Given the description of an element on the screen output the (x, y) to click on. 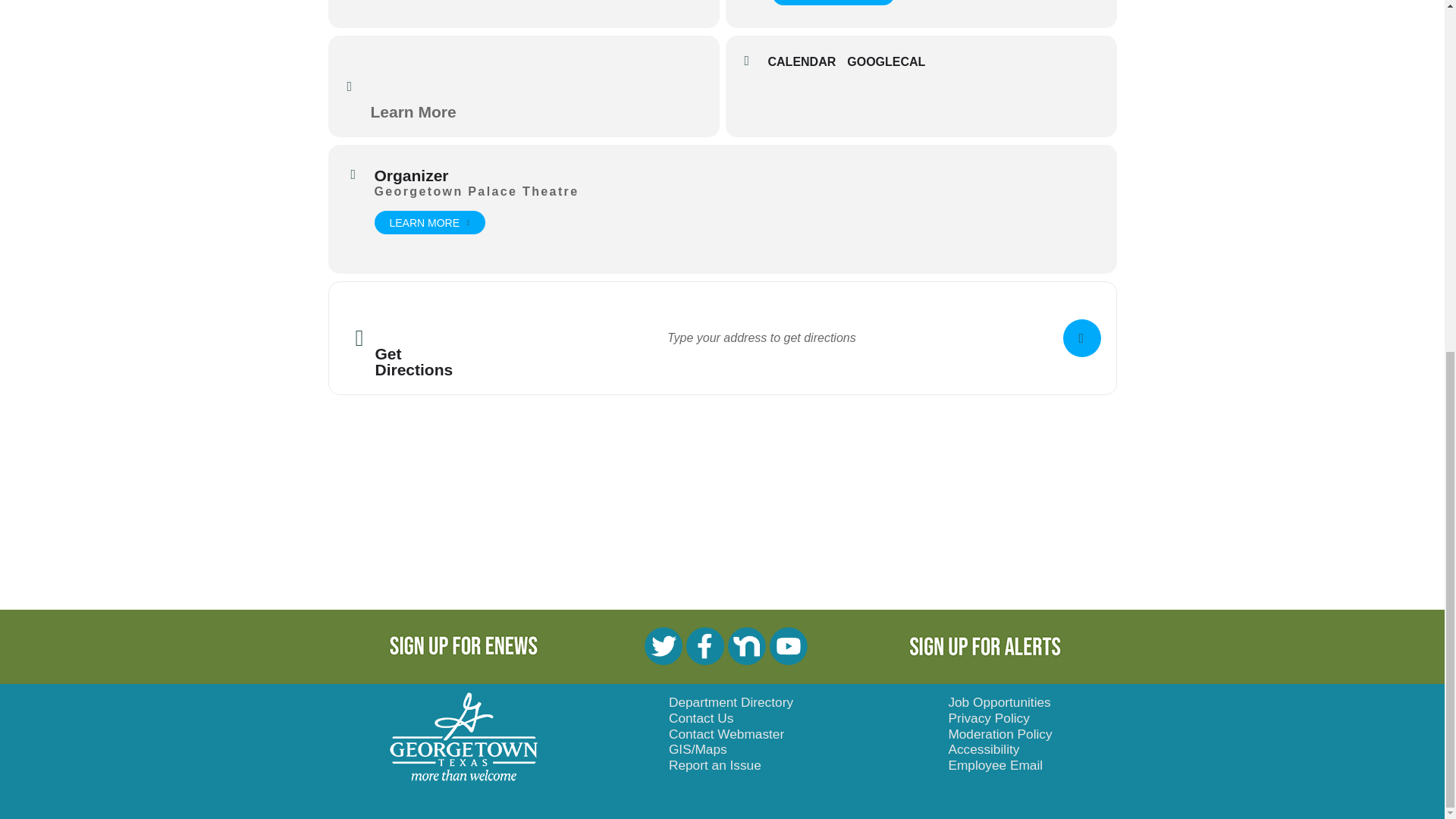
Add to google calendar (891, 61)
Click here to get directions (1081, 338)
Add to your calendar (807, 61)
